Given the description of an element on the screen output the (x, y) to click on. 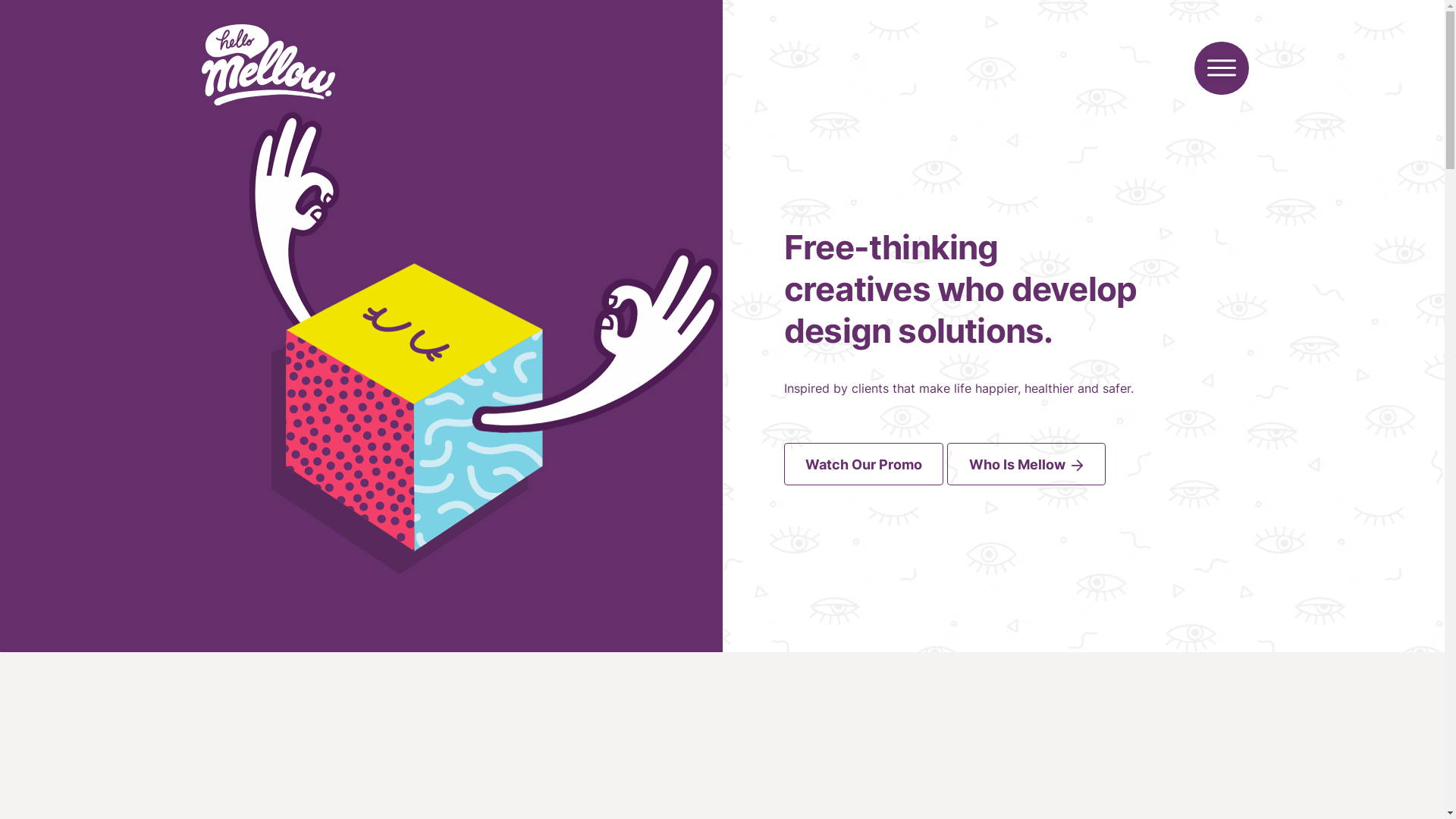
Who Is Mellow Element type: text (1026, 463)
Watch Our Promo Element type: text (863, 463)
